Given the description of an element on the screen output the (x, y) to click on. 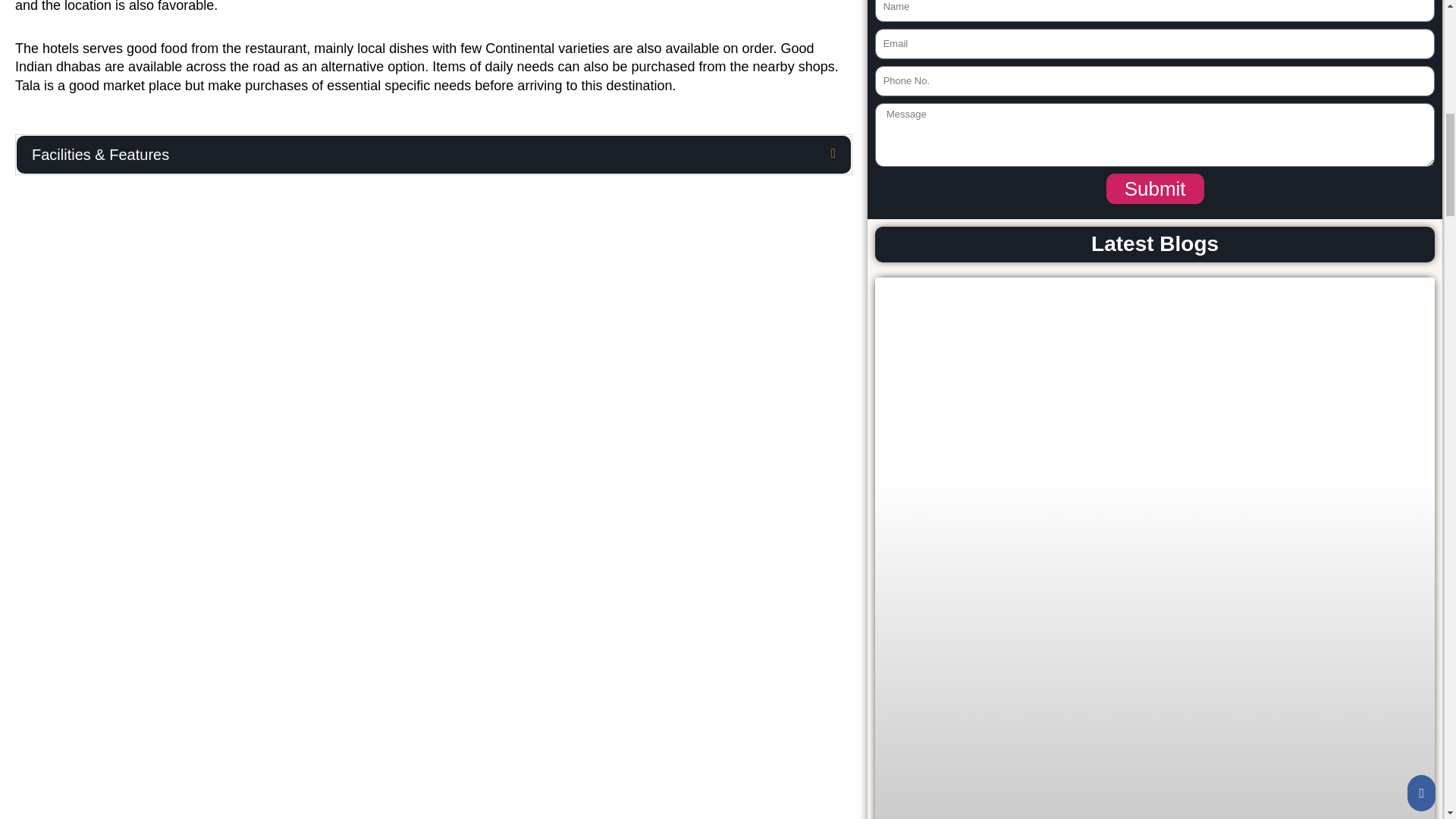
Submit (1155, 188)
